Given the description of an element on the screen output the (x, y) to click on. 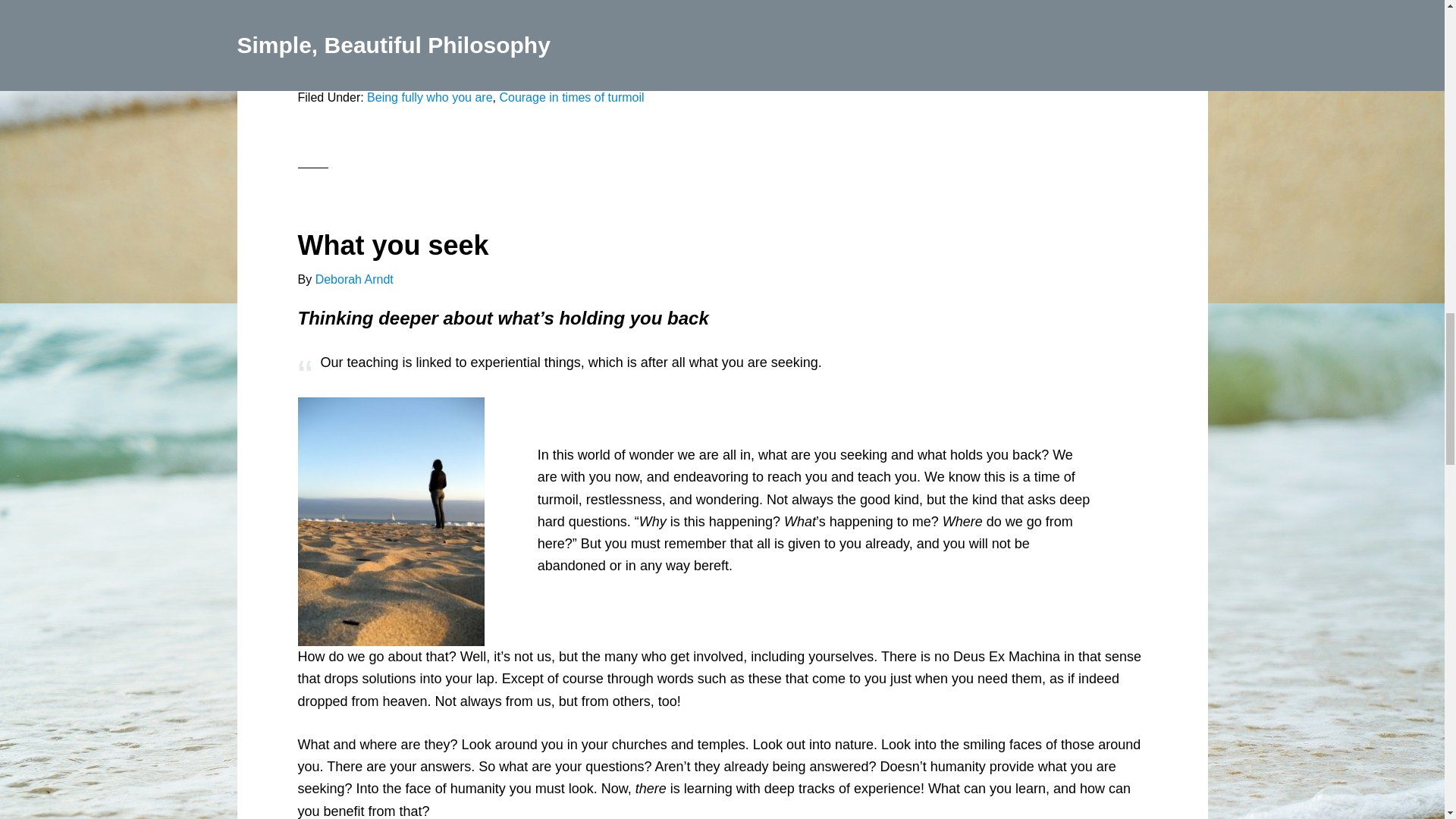
Share (312, 61)
Courage in times of turmoil (571, 97)
What you seek (392, 245)
Deborah Arndt (354, 278)
Being fully who you are (429, 97)
